Given the description of an element on the screen output the (x, y) to click on. 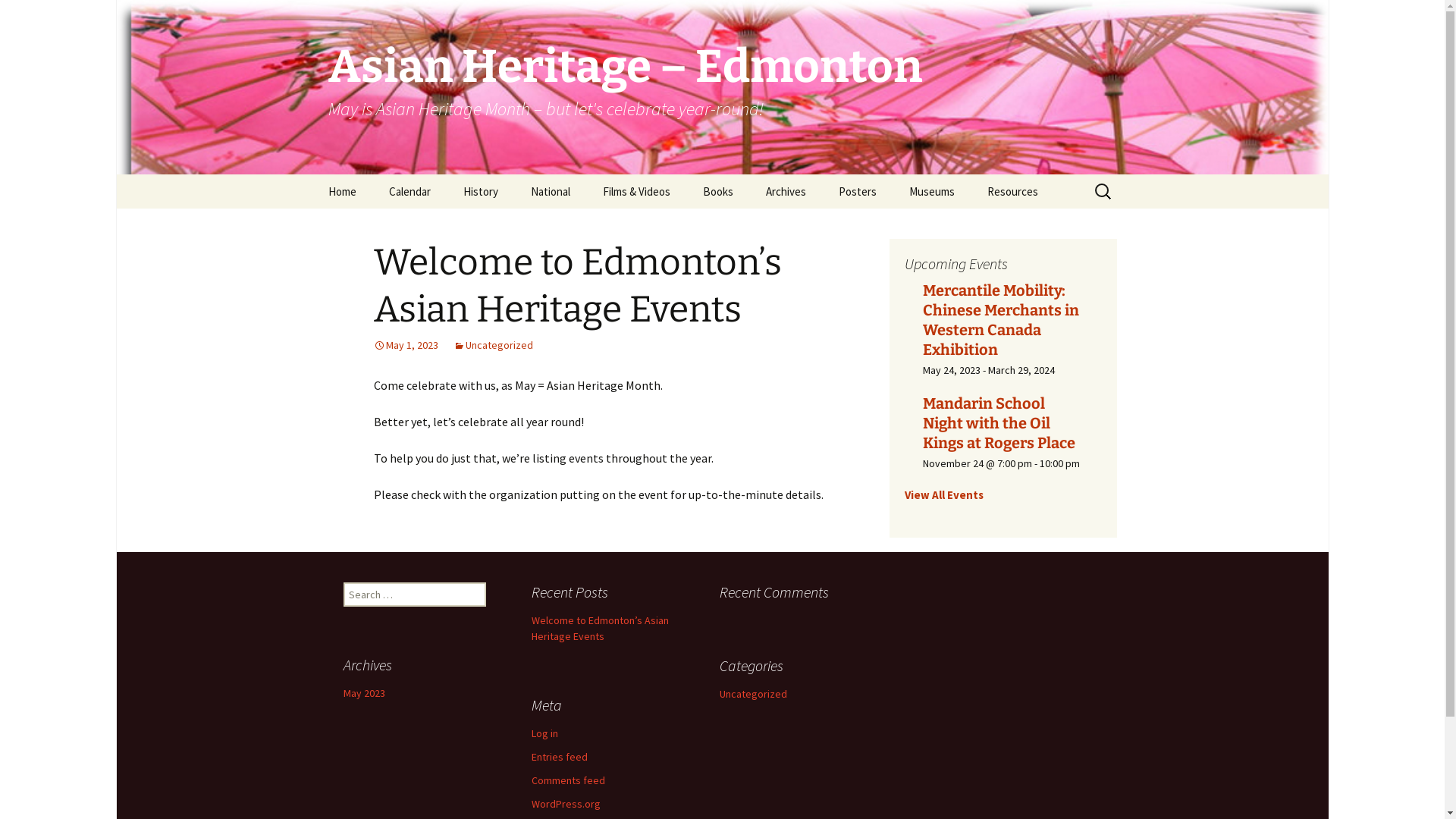
Calendar Element type: text (409, 191)
May 1, 2023 Element type: text (405, 344)
Search Element type: text (18, 16)
Search Element type: text (34, 15)
Log in Element type: text (543, 733)
View All Events Element type: text (942, 494)
Posters Element type: text (857, 191)
Comments feed Element type: text (567, 780)
Resources Element type: text (1012, 191)
Entries feed Element type: text (558, 756)
Uncategorized Element type: text (752, 693)
Home Element type: text (341, 191)
May 2023 Element type: text (363, 692)
Archives Element type: text (785, 191)
Films & Videos Element type: text (635, 191)
National Element type: text (550, 191)
Mandarin School Night with the Oil Kings at Rogers Place Element type: text (998, 422)
Books Element type: text (717, 191)
Skip to content Element type: text (312, 173)
Uncategorized Element type: text (493, 344)
Museums Element type: text (931, 191)
History Element type: text (479, 191)
WordPress.org Element type: text (564, 803)
